Given the description of an element on the screen output the (x, y) to click on. 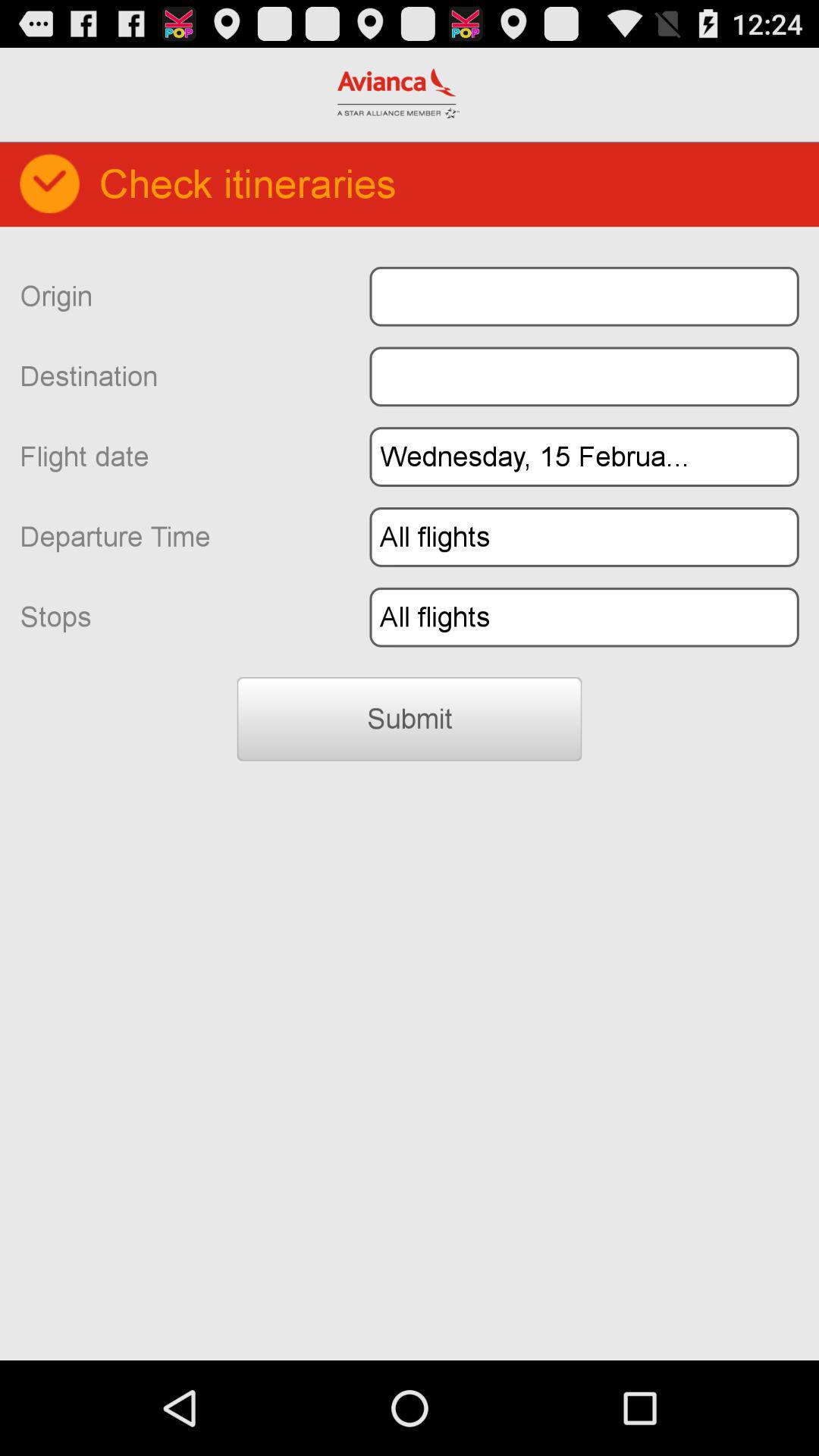
turn off the icon below the stops (409, 718)
